Given the description of an element on the screen output the (x, y) to click on. 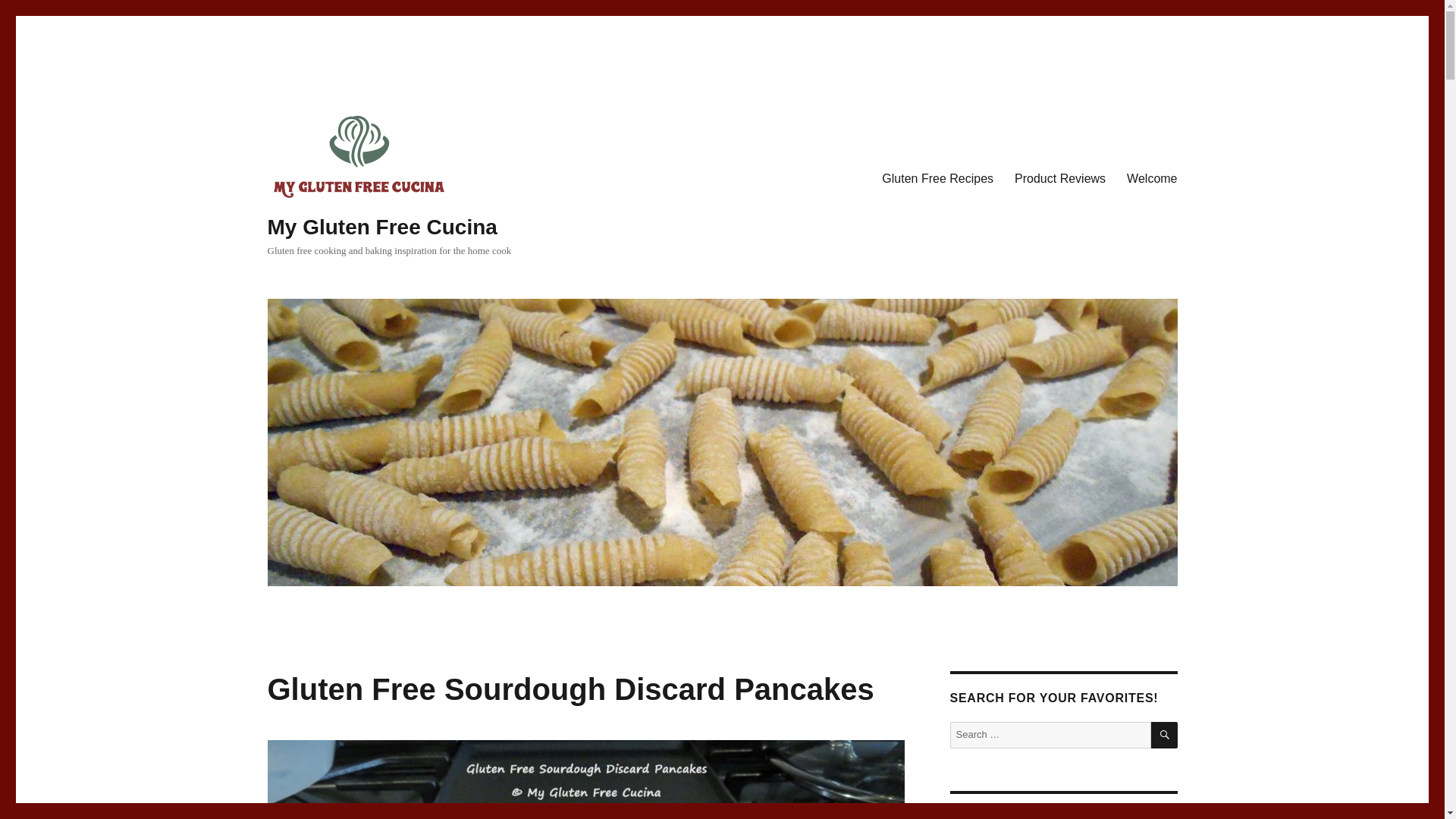
Welcome (1152, 178)
Gluten Free Recipes (937, 178)
Product Reviews (1060, 178)
My Gluten Free Cucina (381, 227)
